Given the description of an element on the screen output the (x, y) to click on. 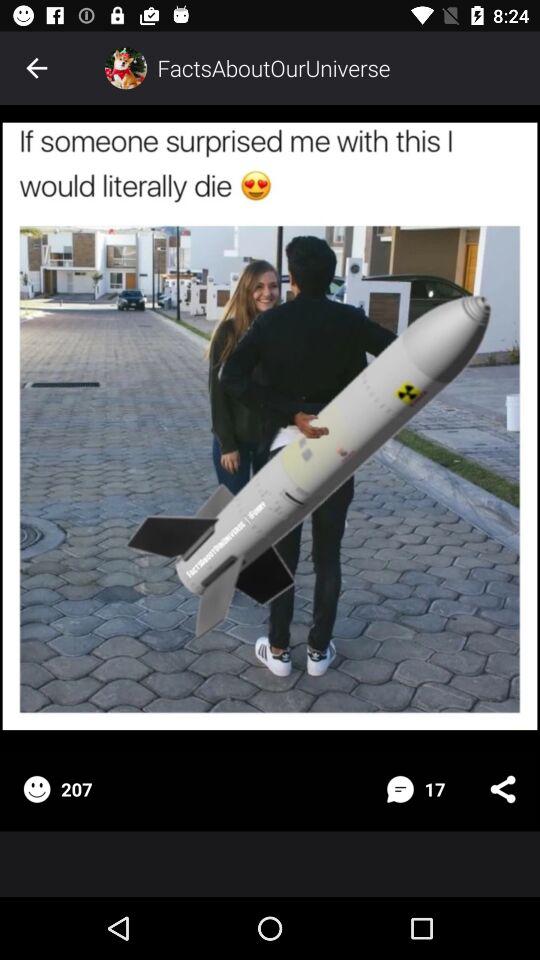
tap icon next to the factsaboutouruniverse icon (125, 68)
